Given the description of an element on the screen output the (x, y) to click on. 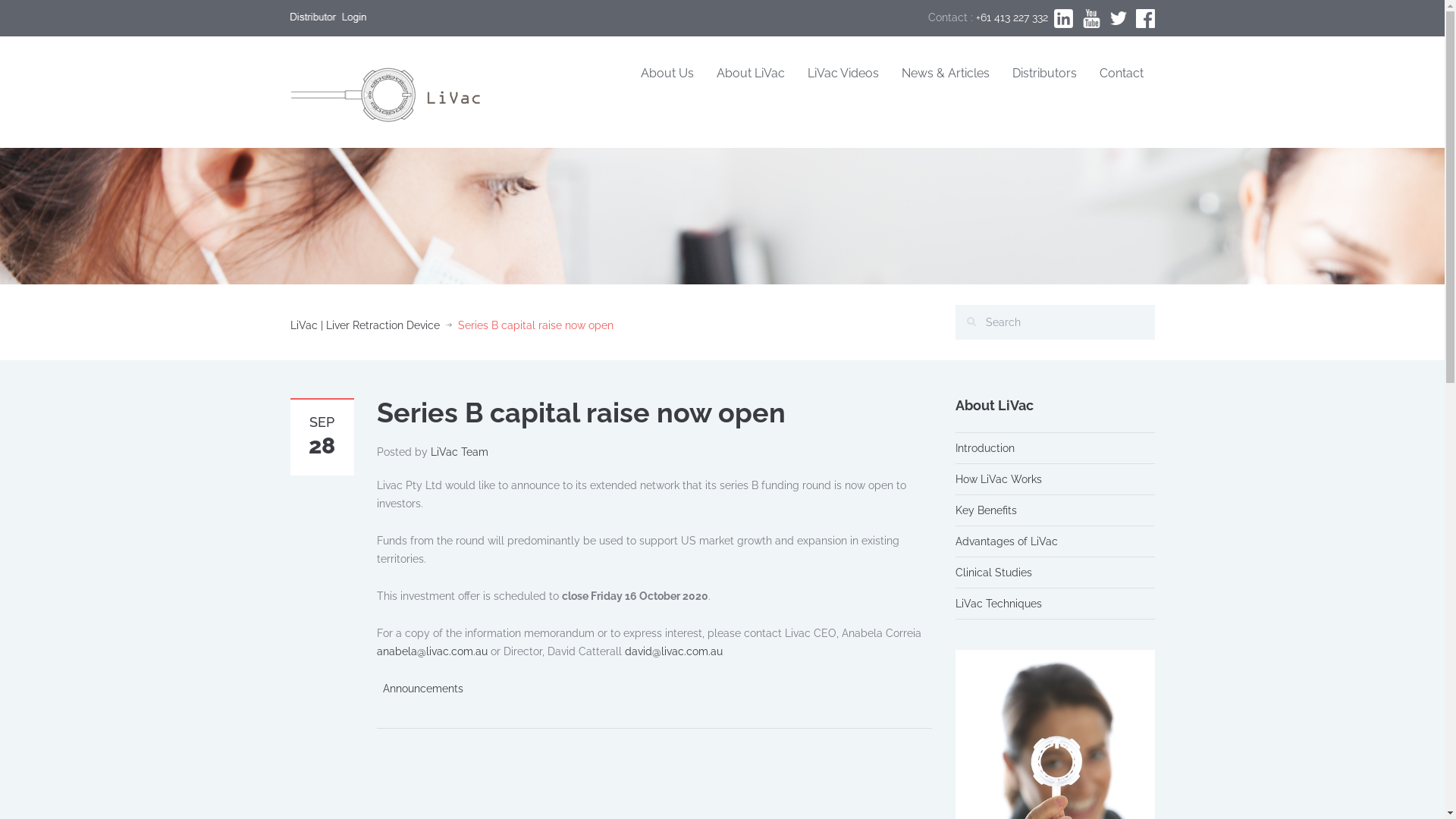
Distributors Element type: text (1044, 73)
Contact Element type: text (1120, 73)
LiVac Techniques Element type: text (998, 603)
About LiVac Element type: text (750, 73)
News & Articles Element type: text (945, 73)
Advantages of LiVac Element type: text (1006, 541)
Introduction Element type: text (984, 448)
How LiVac Works Element type: text (998, 479)
About Us Element type: text (667, 73)
Announcements Element type: text (422, 688)
  Element type: text (1143, 17)
LiVac Videos Element type: text (843, 73)
LiVac Team Element type: text (459, 451)
Key Benefits Element type: text (985, 510)
Clinical Studies Element type: text (993, 572)
david@livac.com.au Element type: text (673, 651)
anabela@livac.com.au Element type: text (431, 651)
LiVac | Liver Retraction Device Element type: text (364, 324)
